Given the description of an element on the screen output the (x, y) to click on. 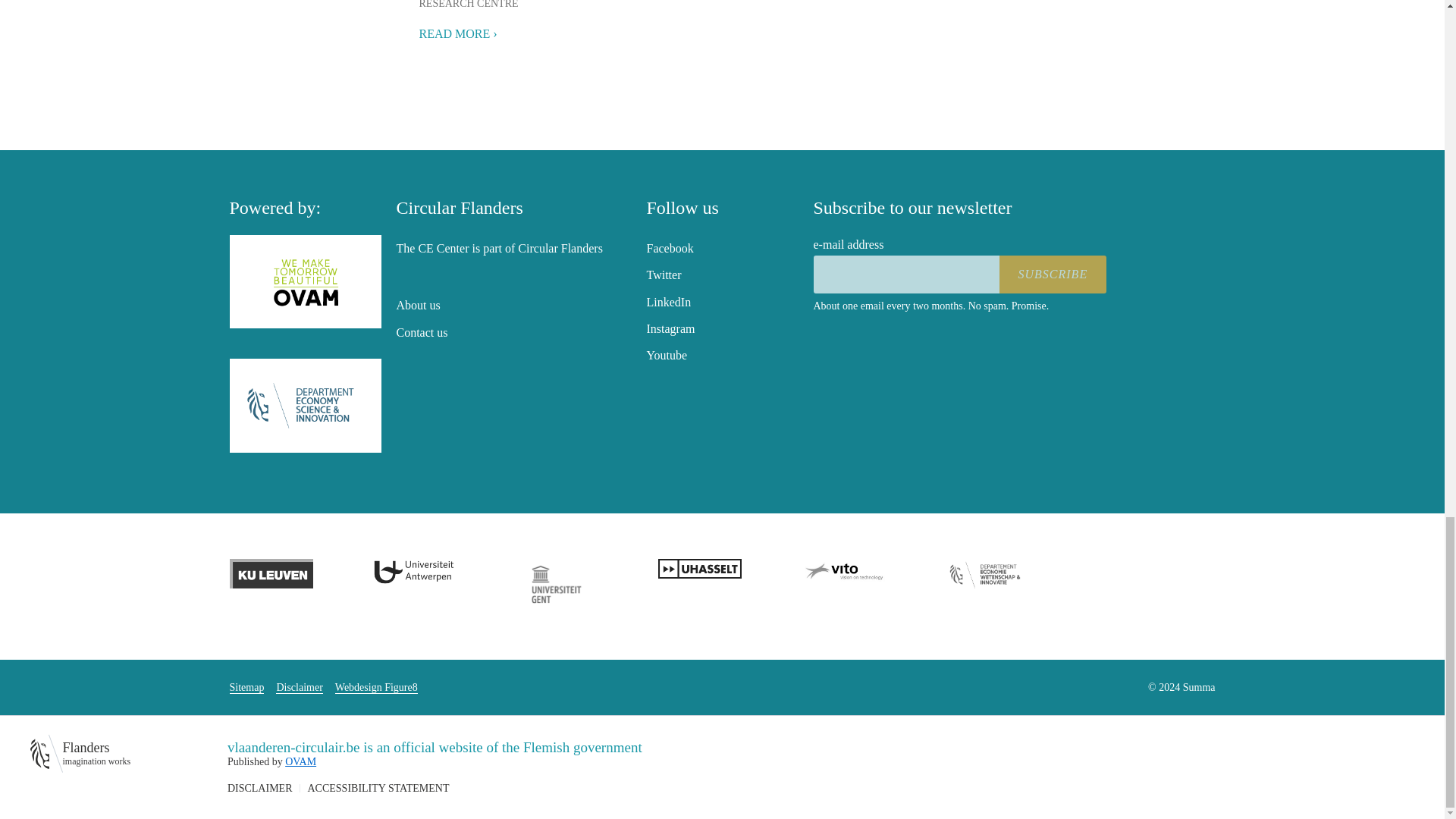
Contact us (421, 332)
Instagram (670, 328)
Sitemap (245, 687)
Youtube (666, 354)
Webdesign en Development Figure8 uit Gent (375, 687)
Twitter (663, 274)
Subscribe (1052, 274)
Facebook (669, 247)
Disclaimer (298, 687)
LinkedIn (668, 301)
